Given the description of an element on the screen output the (x, y) to click on. 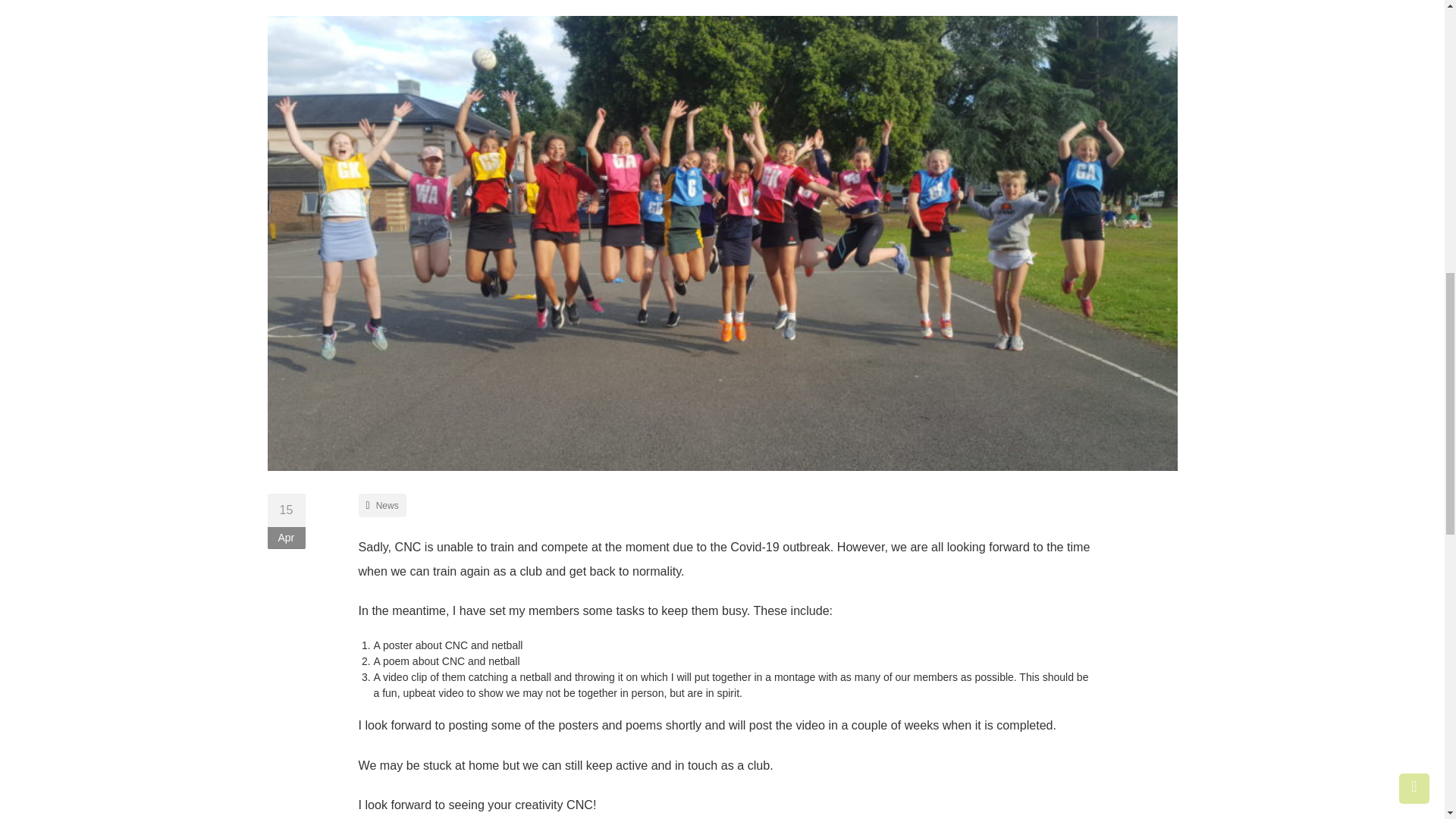
News (386, 505)
